Given the description of an element on the screen output the (x, y) to click on. 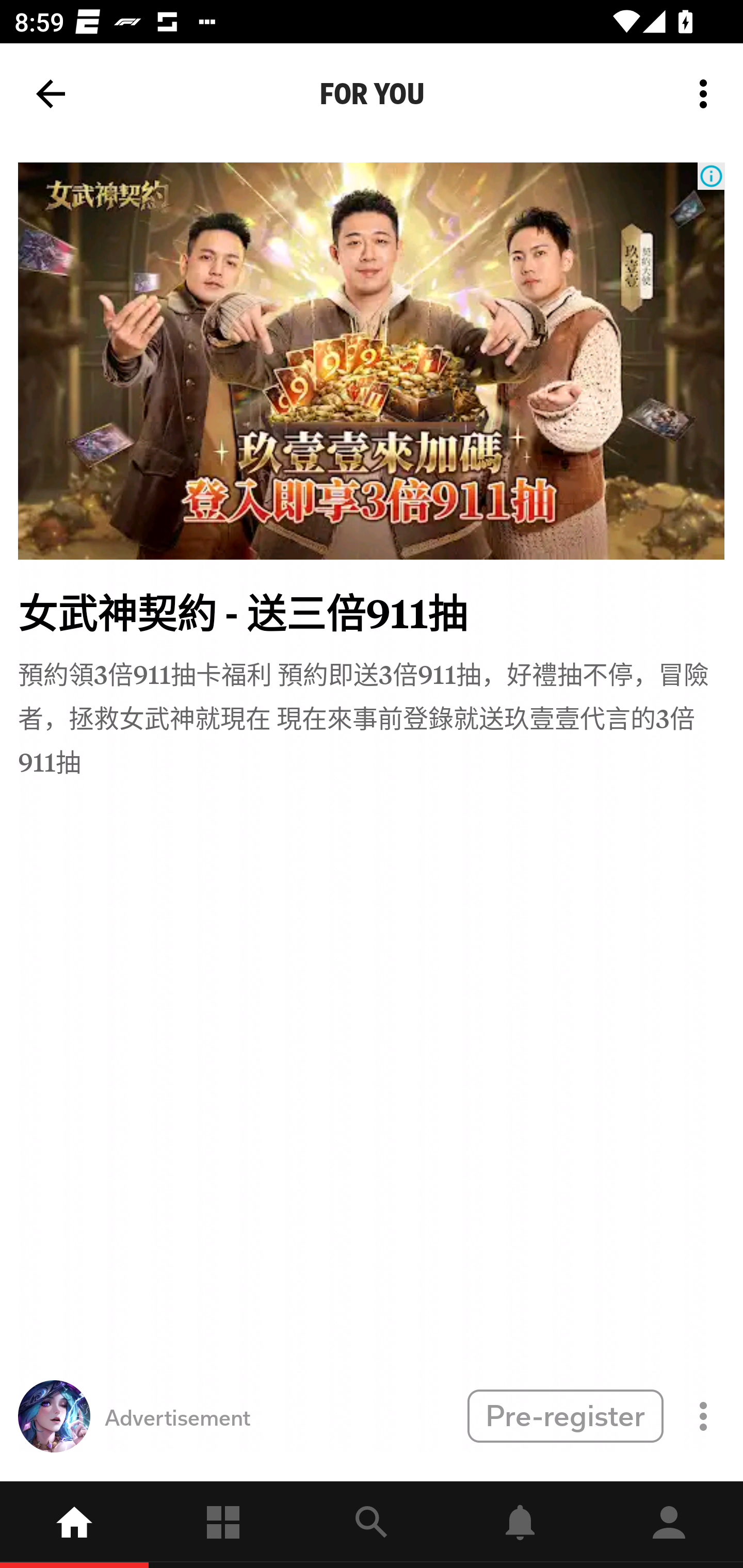
Back (50, 93)
FOR YOU (371, 93)
More options (706, 93)
Ad Choices Icon (711, 176)
Pre-register (565, 1415)
home (74, 1524)
Following (222, 1524)
explore (371, 1524)
Notifications (519, 1524)
Profile (668, 1524)
